Given the description of an element on the screen output the (x, y) to click on. 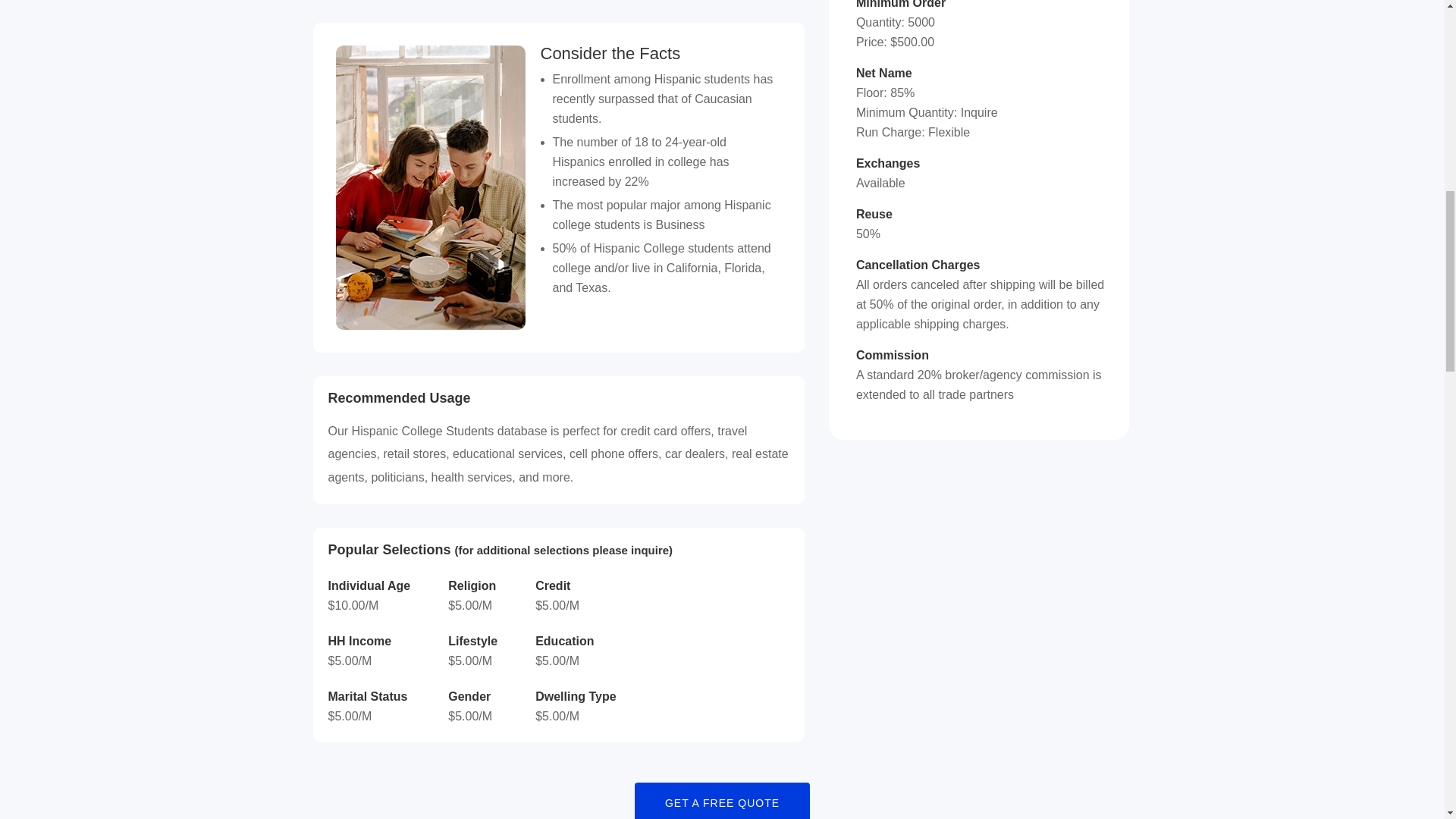
GET A FREE QUOTE (721, 800)
